Given the description of an element on the screen output the (x, y) to click on. 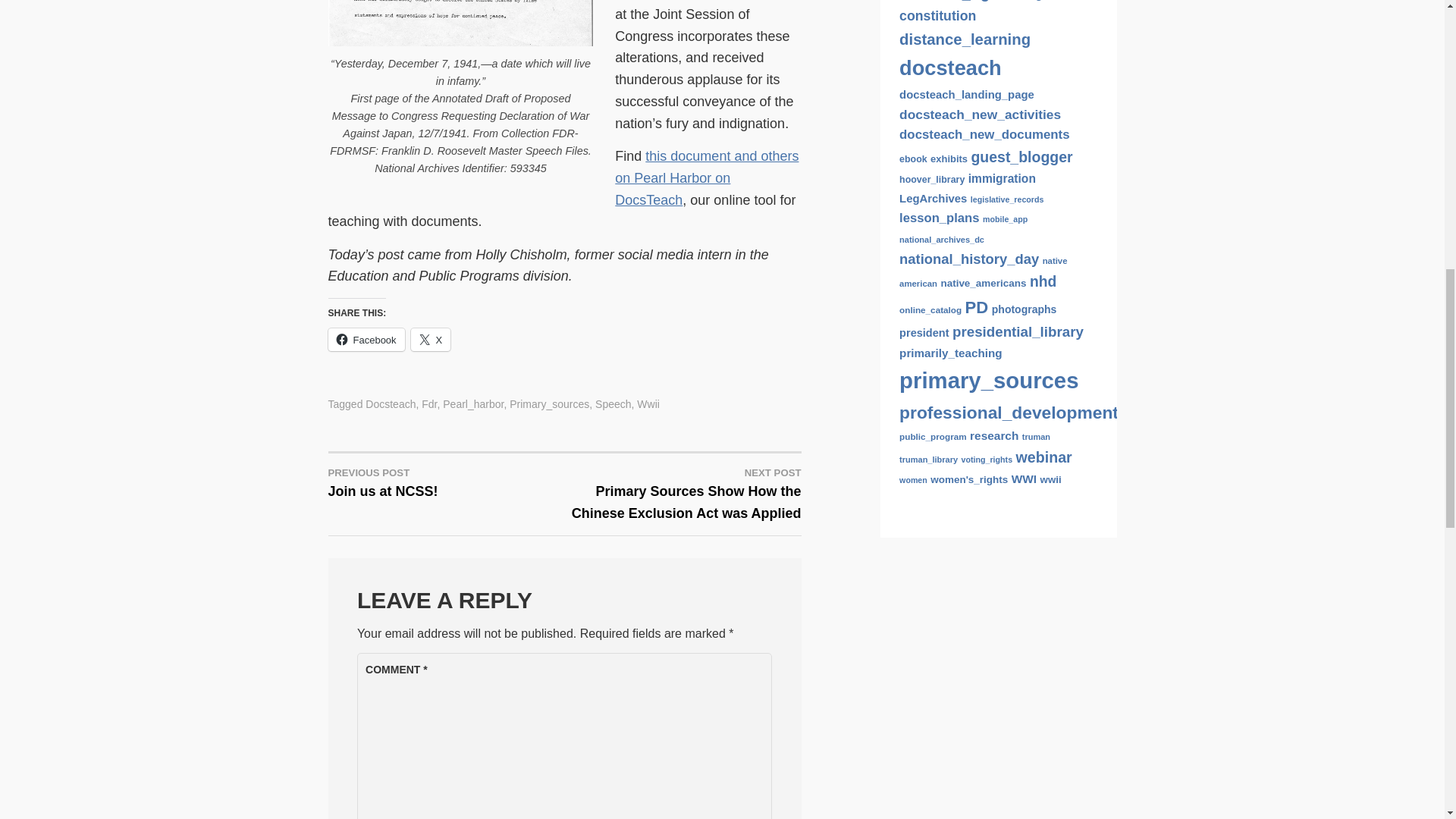
amendment (921, 95)
Speech (612, 404)
Click to share on X (430, 339)
app (954, 95)
ebook (913, 282)
bill of rights (994, 95)
Civics (914, 117)
X (430, 339)
Fdr (429, 404)
congress (1039, 117)
Wwii (445, 481)
exhibits (648, 404)
this document and others on Pearl Harbor on DocsTeach (949, 282)
